Given the description of an element on the screen output the (x, y) to click on. 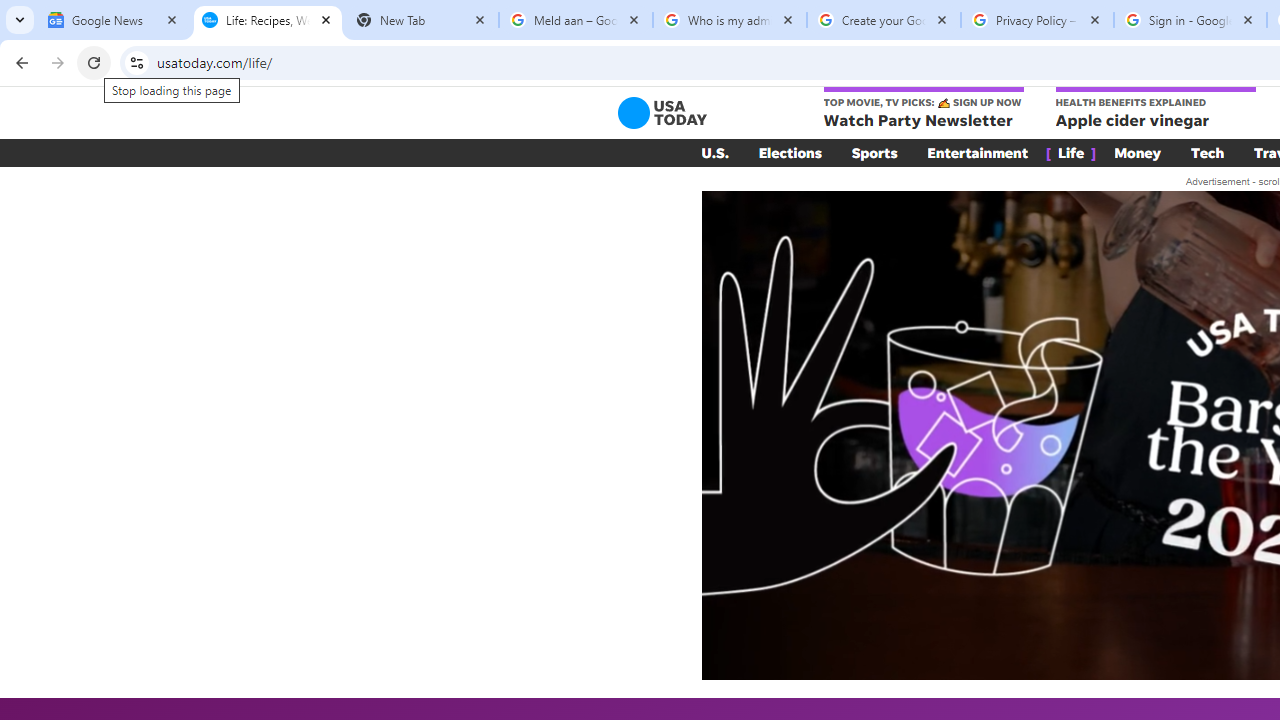
Life: Recipes, Wellness & Horoscopes - USA TODAY (267, 20)
Elections (789, 152)
Money (1137, 152)
HEALTH BENEFITS EXPLAINED Apple cider vinegar (1154, 109)
[ Life ] (1071, 152)
Sports (873, 152)
USA TODAY (661, 112)
